Given the description of an element on the screen output the (x, y) to click on. 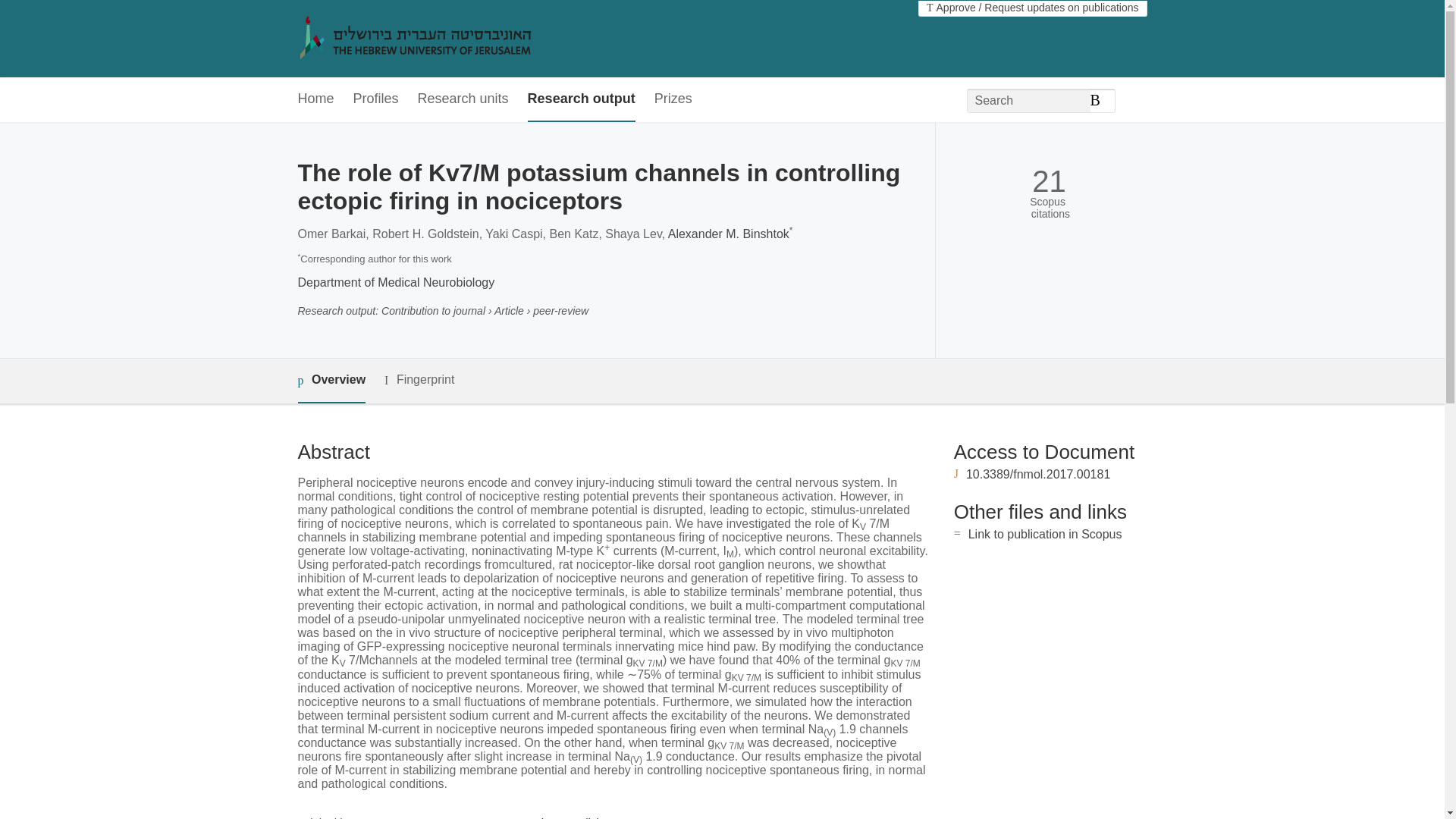
Fingerprint (419, 380)
Alexander M. Binshtok (728, 233)
Research units (462, 99)
Overview (331, 380)
Link to publication in Scopus (1045, 533)
The Hebrew University of Jerusalem Home (447, 38)
Research output (580, 99)
Profiles (375, 99)
Department of Medical Neurobiology (396, 282)
